Given the description of an element on the screen output the (x, y) to click on. 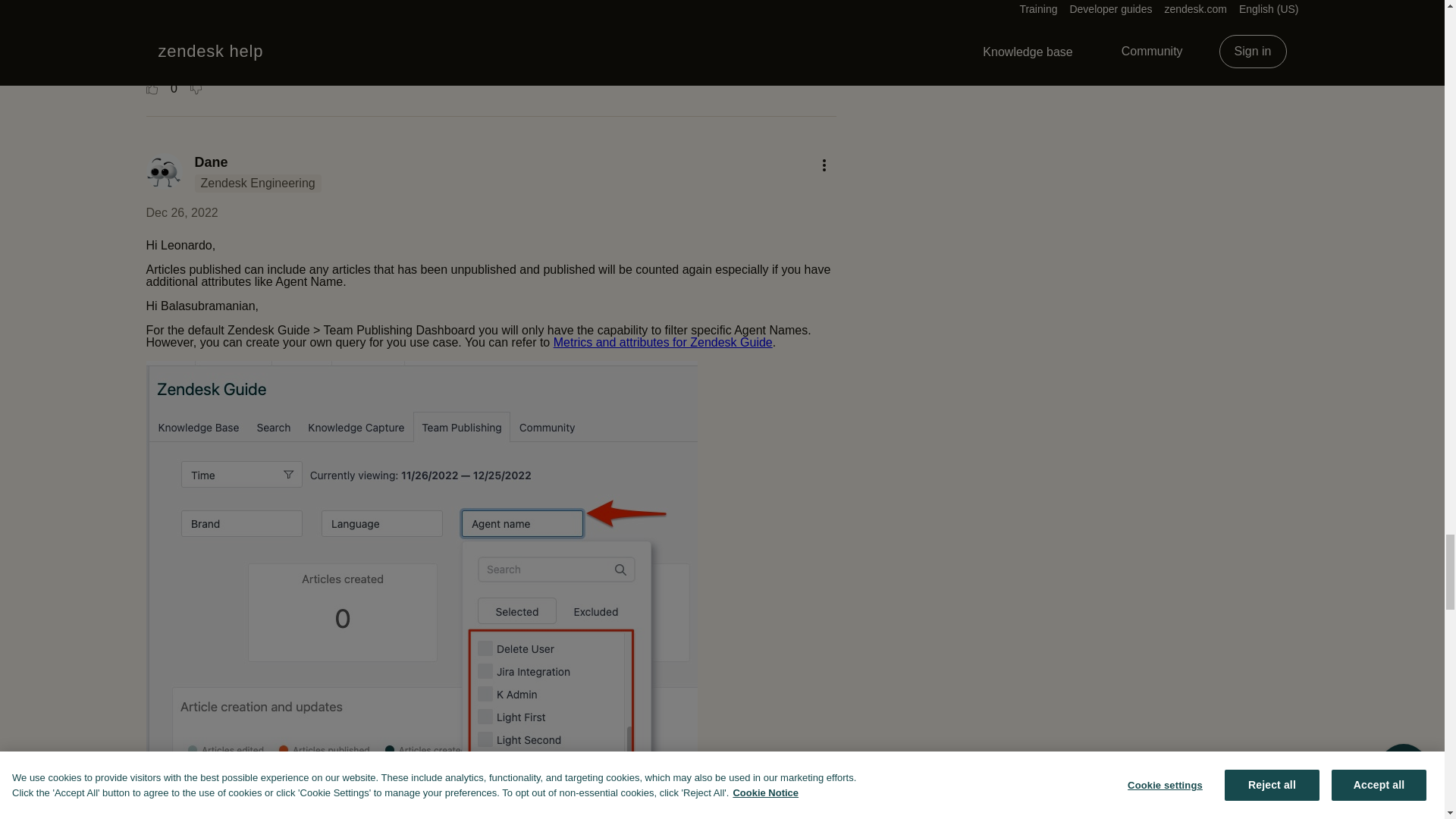
Dec 26, 2022 (180, 212)
